Given the description of an element on the screen output the (x, y) to click on. 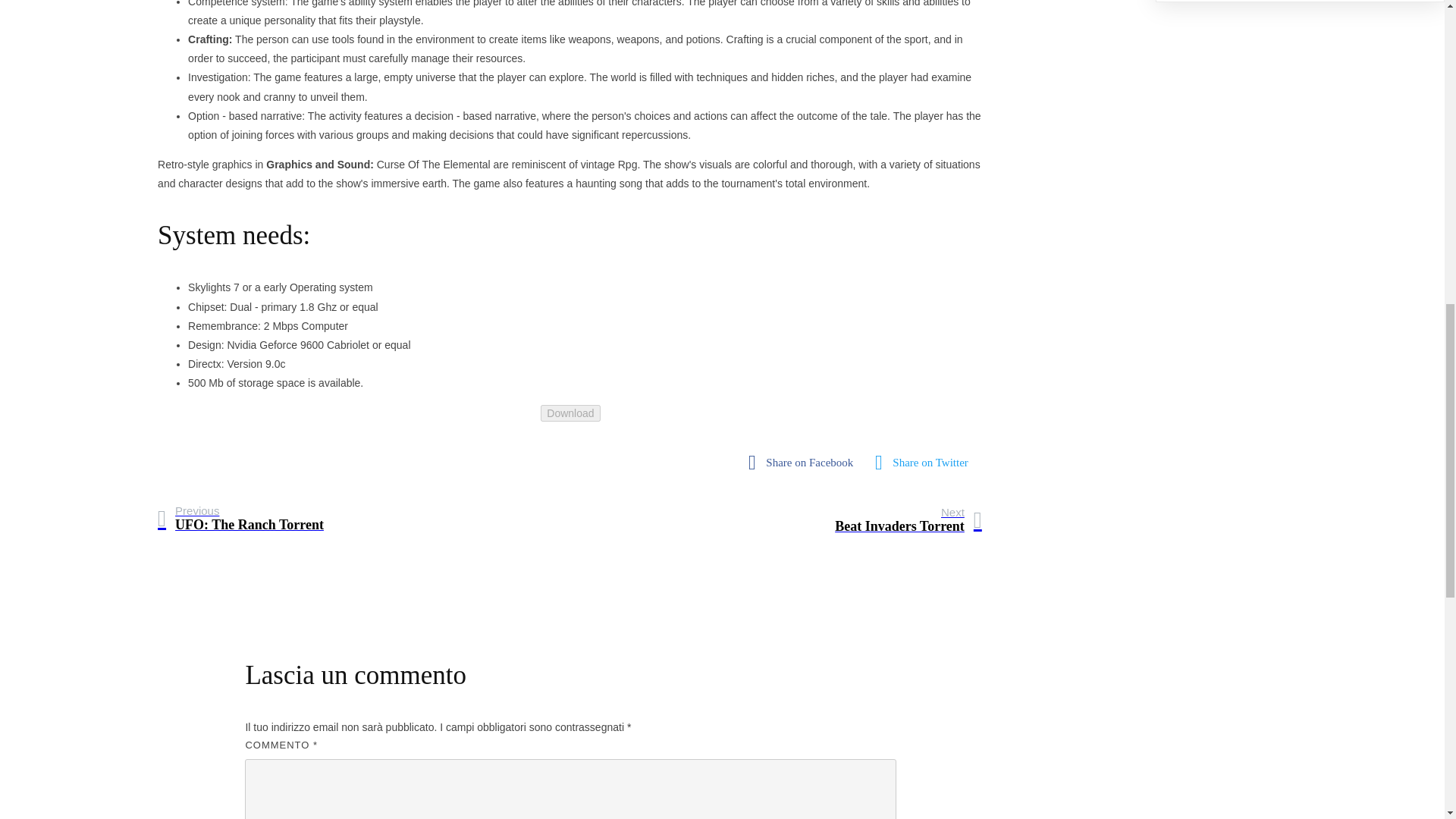
fab fa-facebook-square (804, 462)
fab fa-twitter-square (907, 520)
Share on Facebook (925, 462)
Download (240, 518)
Download (804, 462)
Share on Twitter (569, 413)
